Given the description of an element on the screen output the (x, y) to click on. 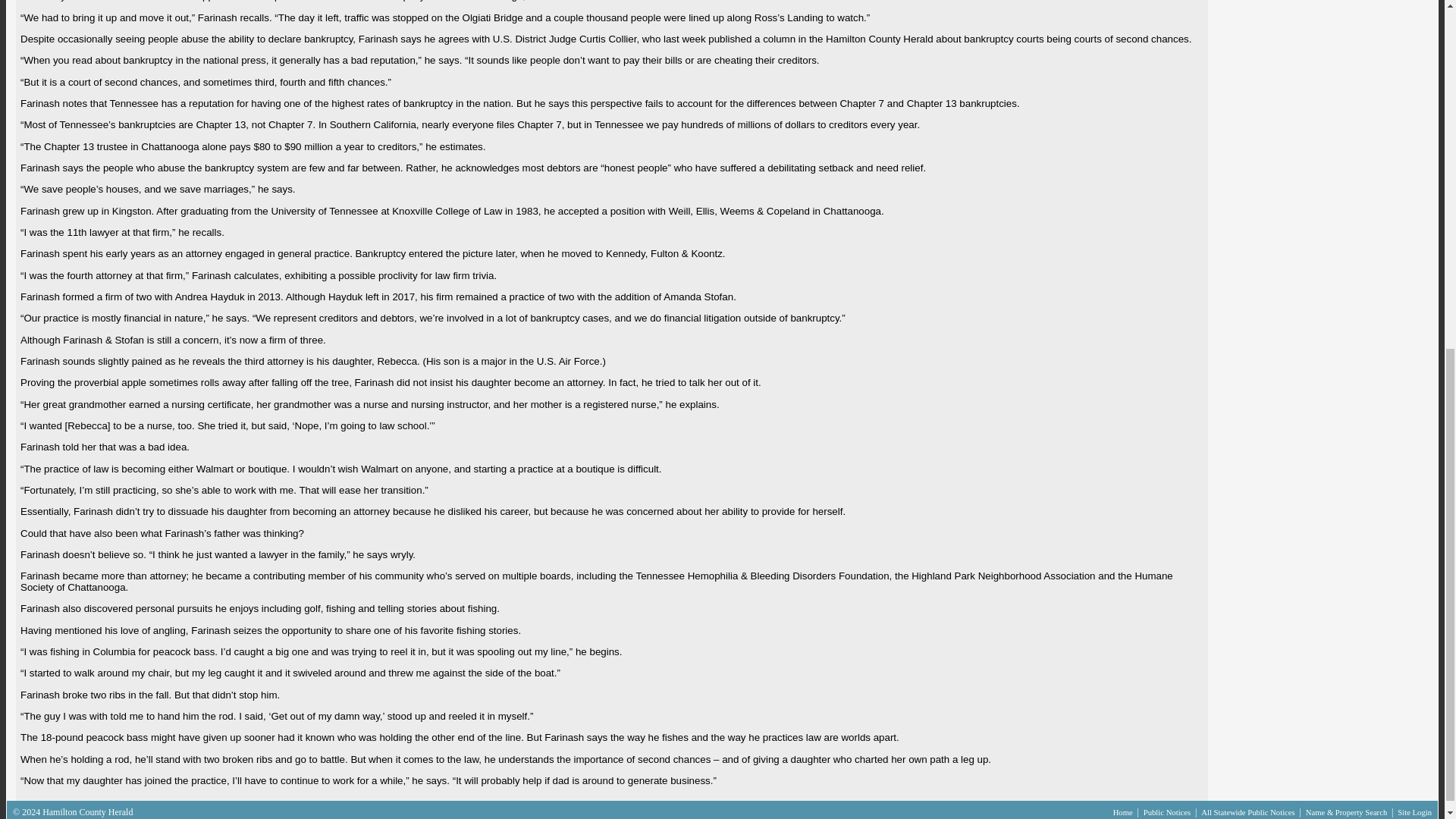
Site Login (1414, 812)
Home (1124, 812)
All Statewide Public Notices (1249, 812)
Public Notices (1167, 812)
